Given the description of an element on the screen output the (x, y) to click on. 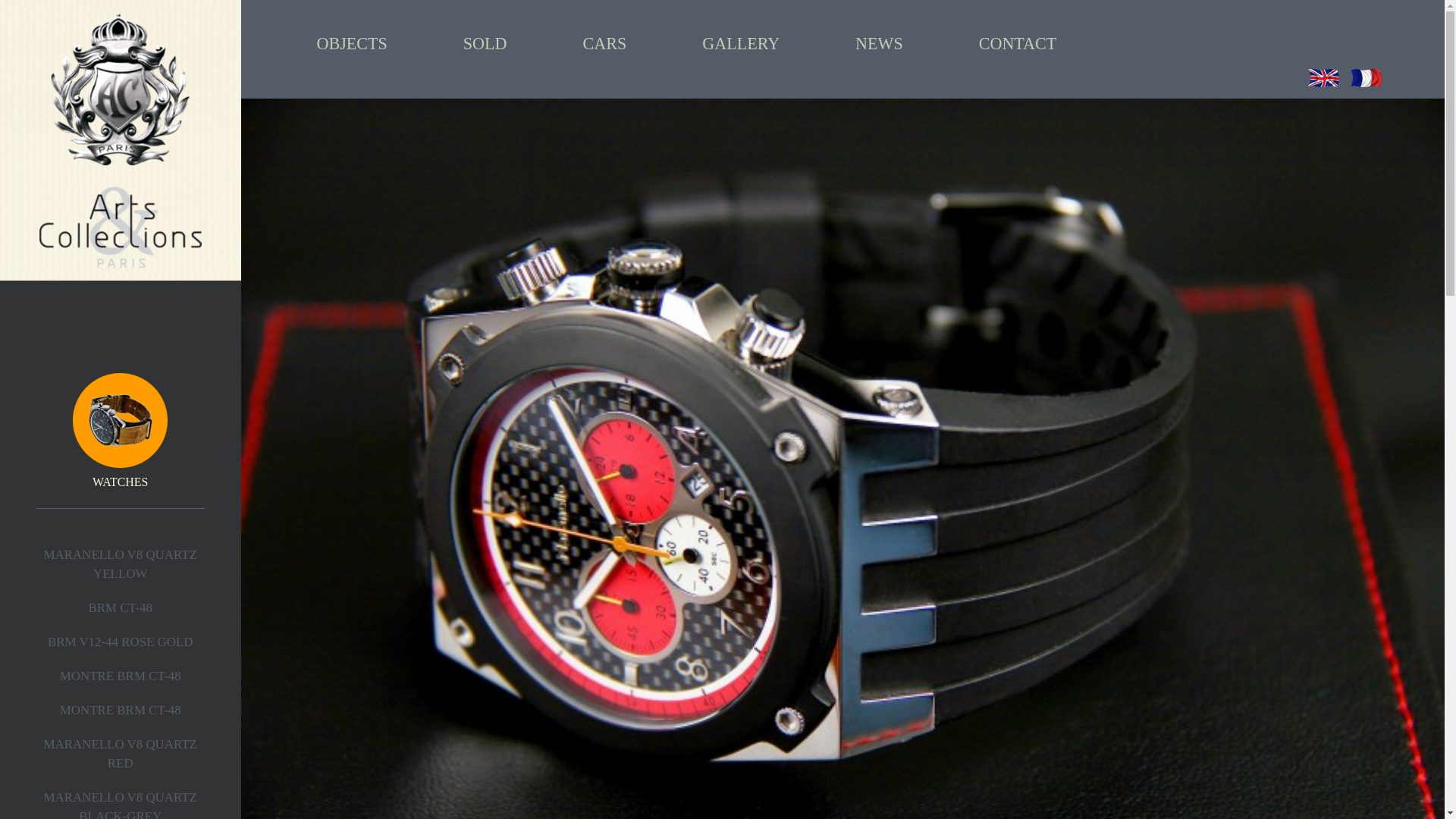
NEWS (878, 43)
MONTRE BRM CT-48 (119, 709)
OBJECTS (352, 43)
Sold (484, 43)
Objects (352, 43)
BRM CT-48 (120, 607)
Cars (604, 43)
MARANELLO V8 QUARTZ BLACK-GREY (119, 804)
MARANELLO V8 QUARTZ RED (119, 753)
GALLERY (739, 43)
Gallery (739, 43)
MARANELLO V8 QUARTZ YELLOW (119, 563)
CONTACT (1017, 43)
CARS (604, 43)
News (878, 43)
